Given the description of an element on the screen output the (x, y) to click on. 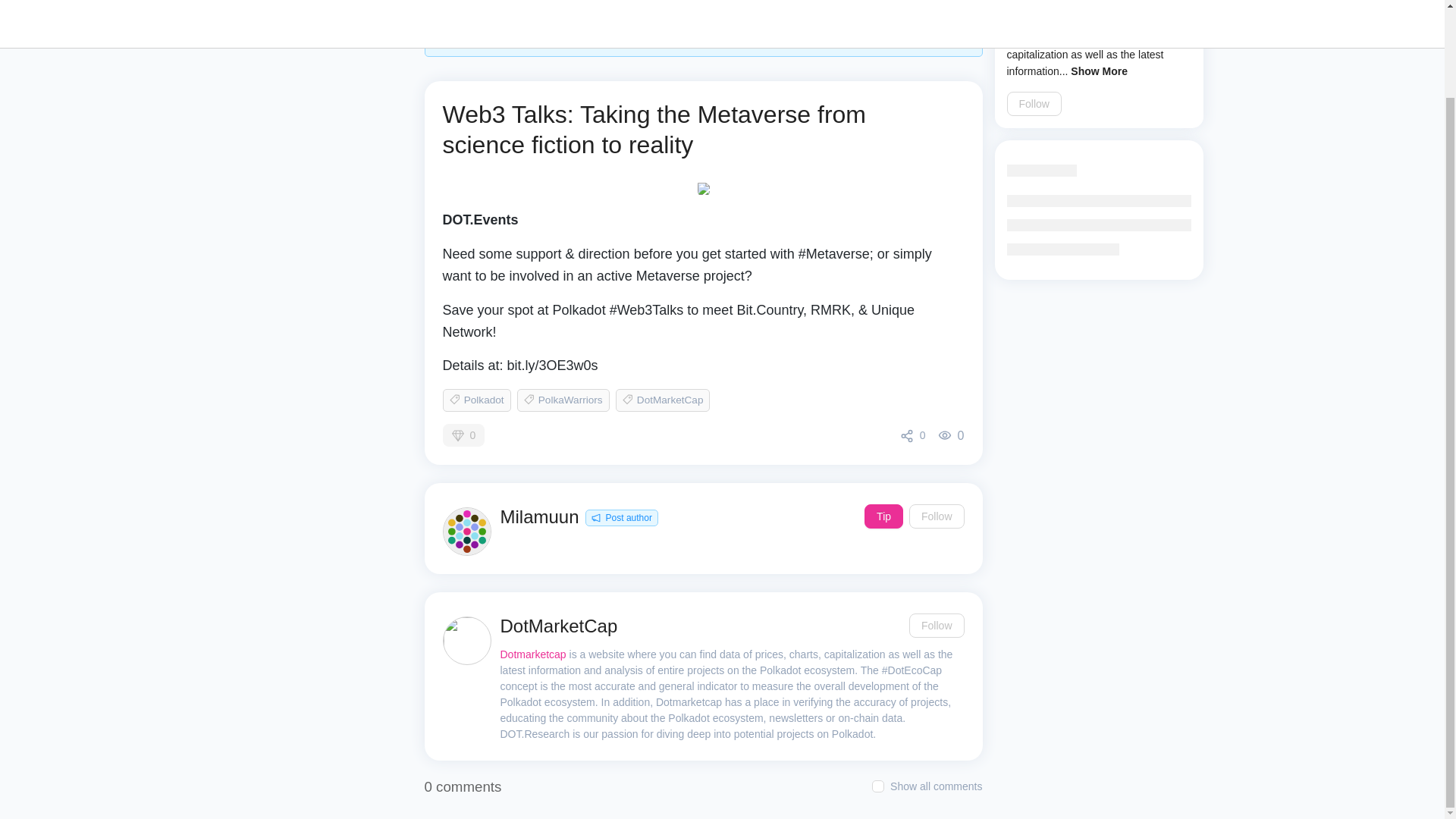
Follow (1034, 103)
Tip (883, 516)
DotMarketCap (662, 400)
PolkaWarriors (563, 400)
Follow (935, 625)
Polkadot (475, 400)
Share (912, 434)
0 (912, 434)
DotMarketCap (558, 624)
0 (463, 435)
